Given the description of an element on the screen output the (x, y) to click on. 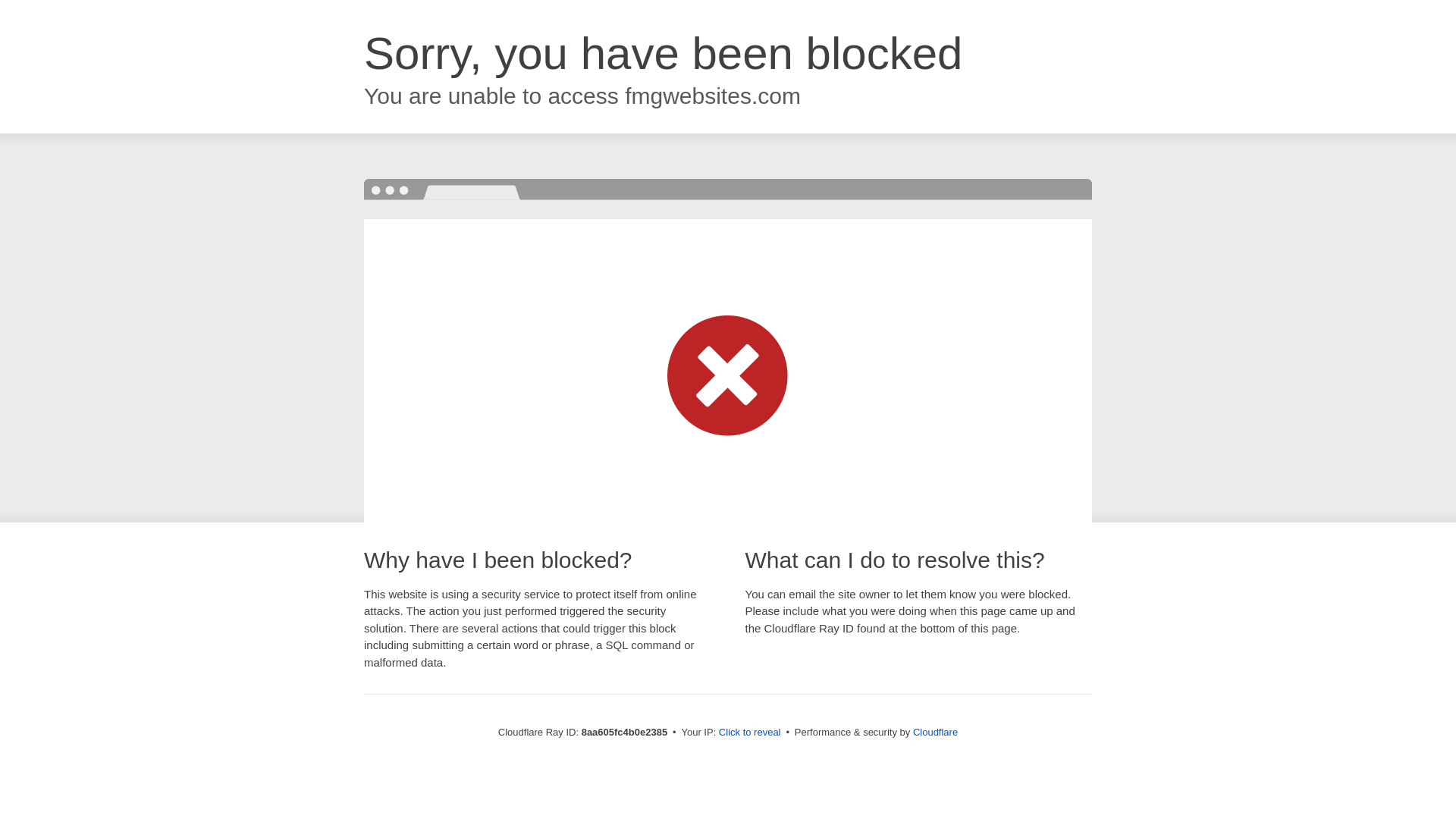
Cloudflare (935, 731)
Click to reveal (749, 732)
